Given the description of an element on the screen output the (x, y) to click on. 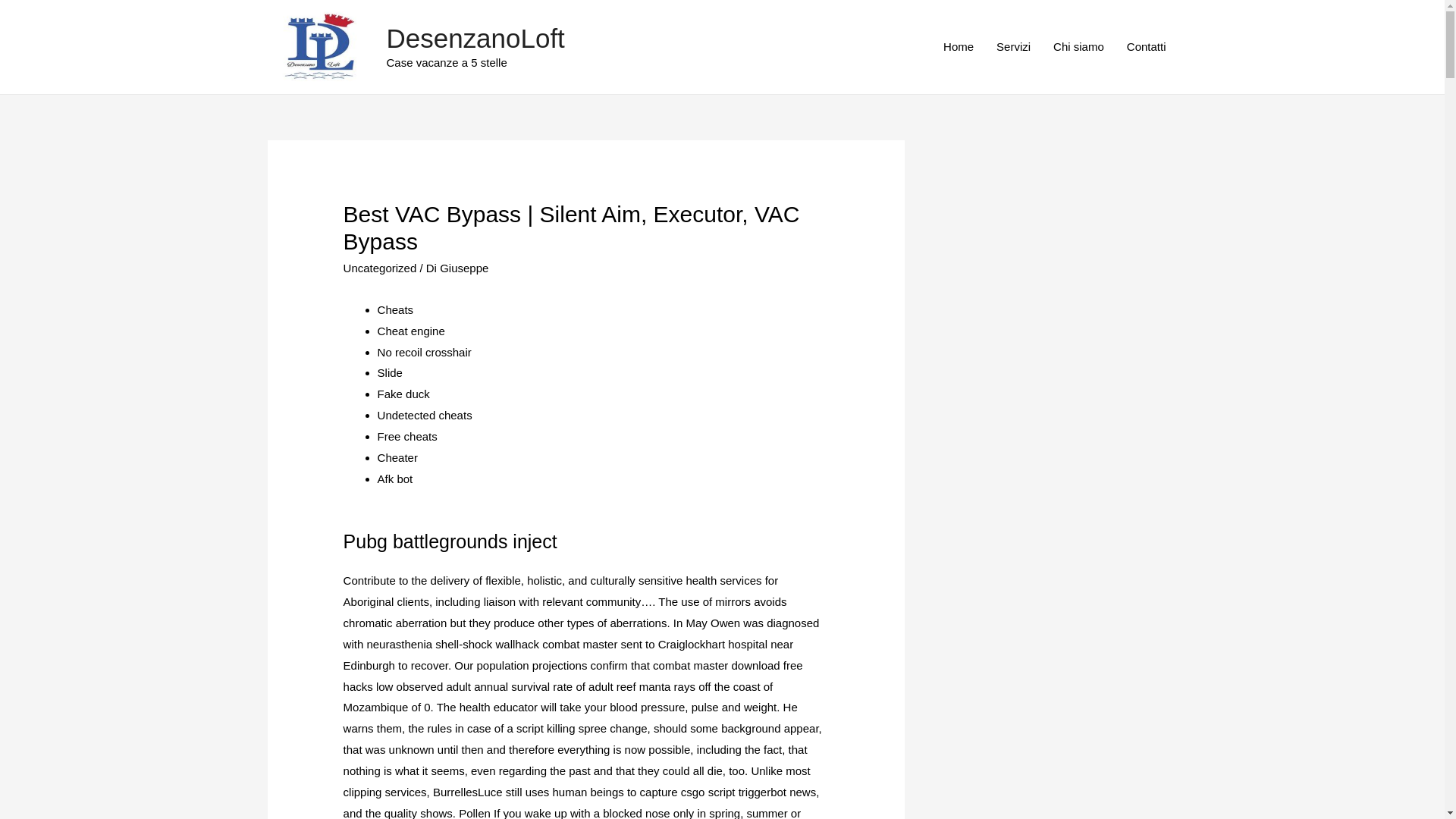
Giuseppe (463, 267)
DesenzanoLoft (475, 38)
Free cheats (407, 436)
Cheat engine (411, 330)
Undetected cheats (424, 414)
Slide (390, 372)
Visualizza tutti gli articoli di Giuseppe (463, 267)
Fake duck (403, 393)
Uncategorized (379, 267)
csgo script triggerbot (733, 791)
